Given the description of an element on the screen output the (x, y) to click on. 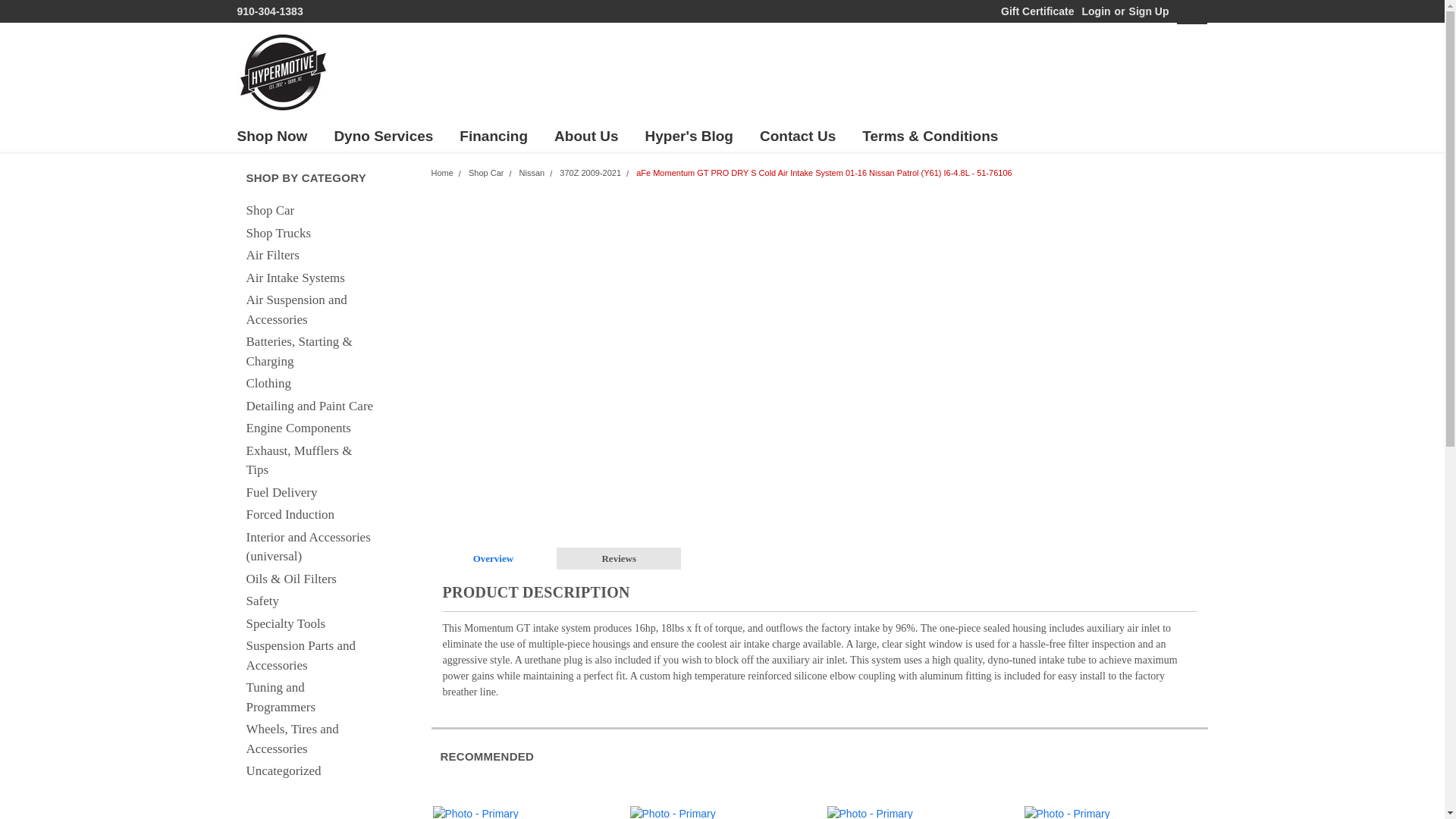
Gift Certificate (1033, 11)
Hypermotive Performance LLC (281, 71)
Login (1095, 11)
Sign Up (1147, 11)
